Given the description of an element on the screen output the (x, y) to click on. 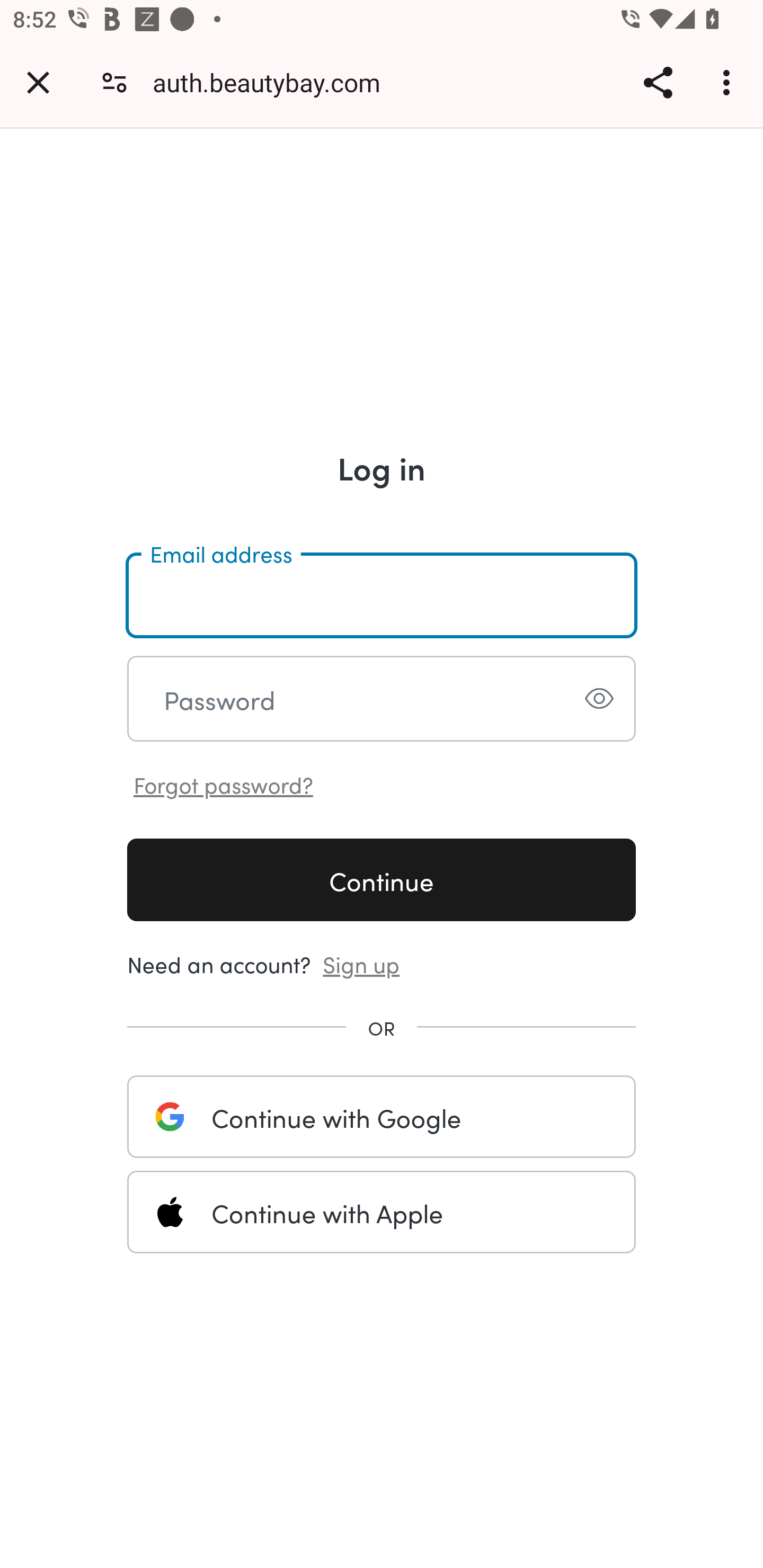
Close tab (38, 82)
Share (657, 82)
Customize and control Google Chrome (729, 82)
Connection is secure (114, 81)
auth.beautybay.com (272, 81)
Show password (599, 698)
Forgot password? (223, 782)
Continue (381, 879)
Sign up (361, 962)
Continue with Google (381, 1116)
Continue with Apple (381, 1211)
